Given the description of an element on the screen output the (x, y) to click on. 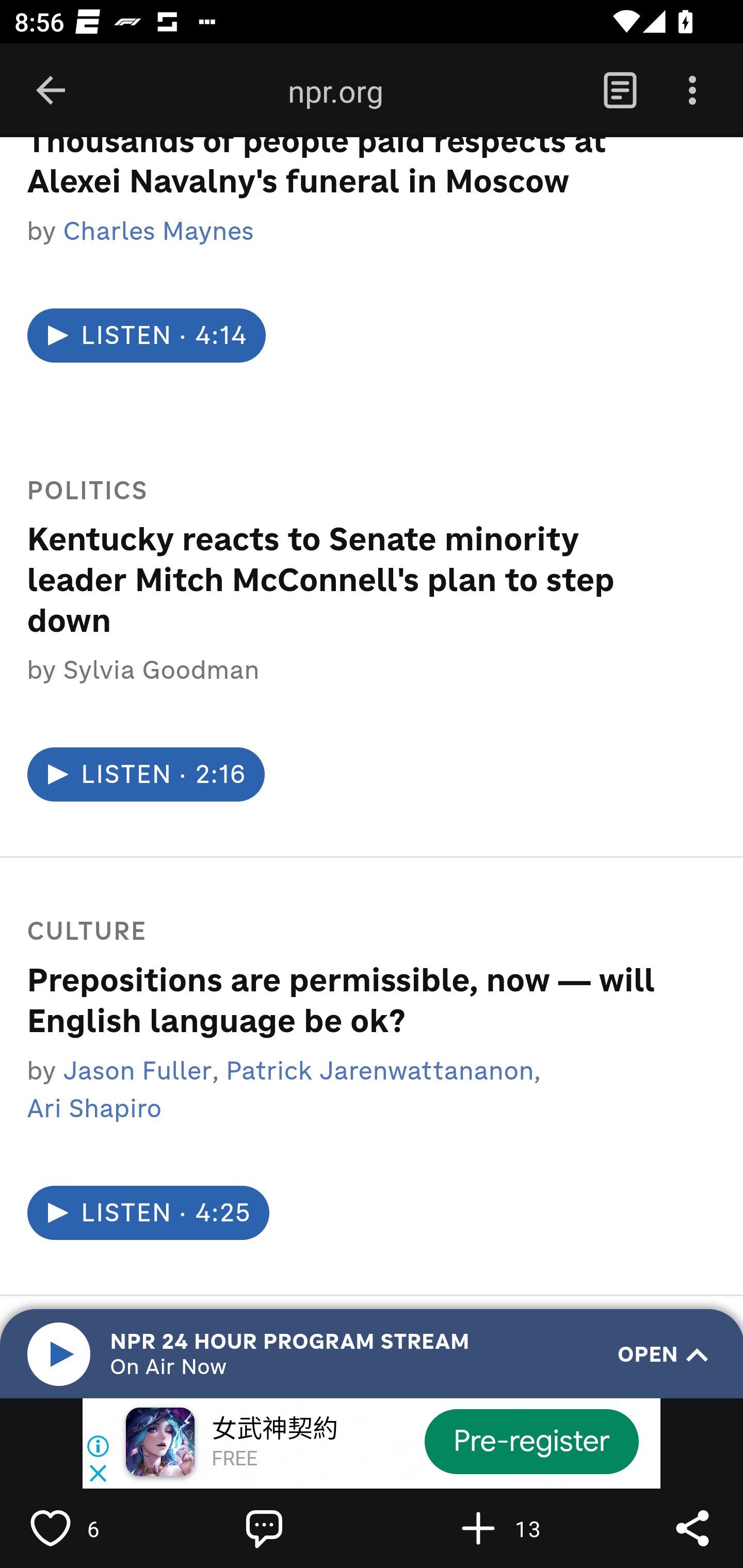
Back (50, 90)
Reader View (619, 90)
Options (692, 90)
Charles Maynes (157, 232)
LISTEN· 4:14 (146, 337)
POLITICS POLITICS POLITICS (344, 492)
LISTEN· 2:16 (145, 775)
CULTURE CULTURE CULTURE (344, 932)
Jason Fuller (137, 1071)
Patrick Jarenwattananon (379, 1071)
Ari Shapiro (93, 1109)
LISTEN· 4:25 (148, 1213)
Pre-register (530, 1441)
女武神契約 (274, 1429)
FREE (234, 1459)
Like 6 (93, 1528)
Write a comment… (307, 1528)
Flip into Magazine 13 (521, 1528)
Share (692, 1528)
